Given the description of an element on the screen output the (x, y) to click on. 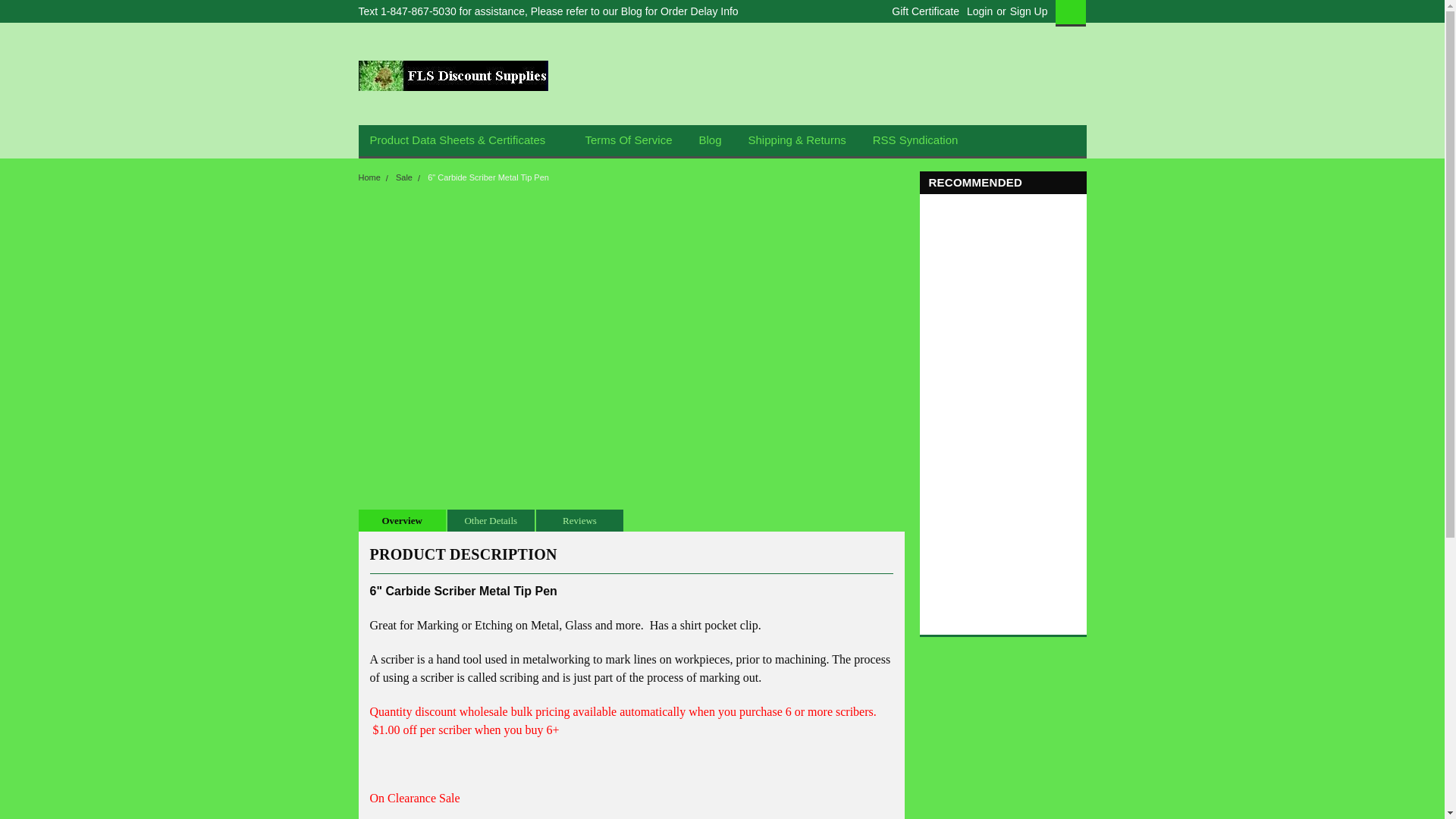
FLS Discount Supplies (452, 75)
Gift Certificate (921, 11)
Sign Up (1027, 11)
Login (979, 11)
